Given the description of an element on the screen output the (x, y) to click on. 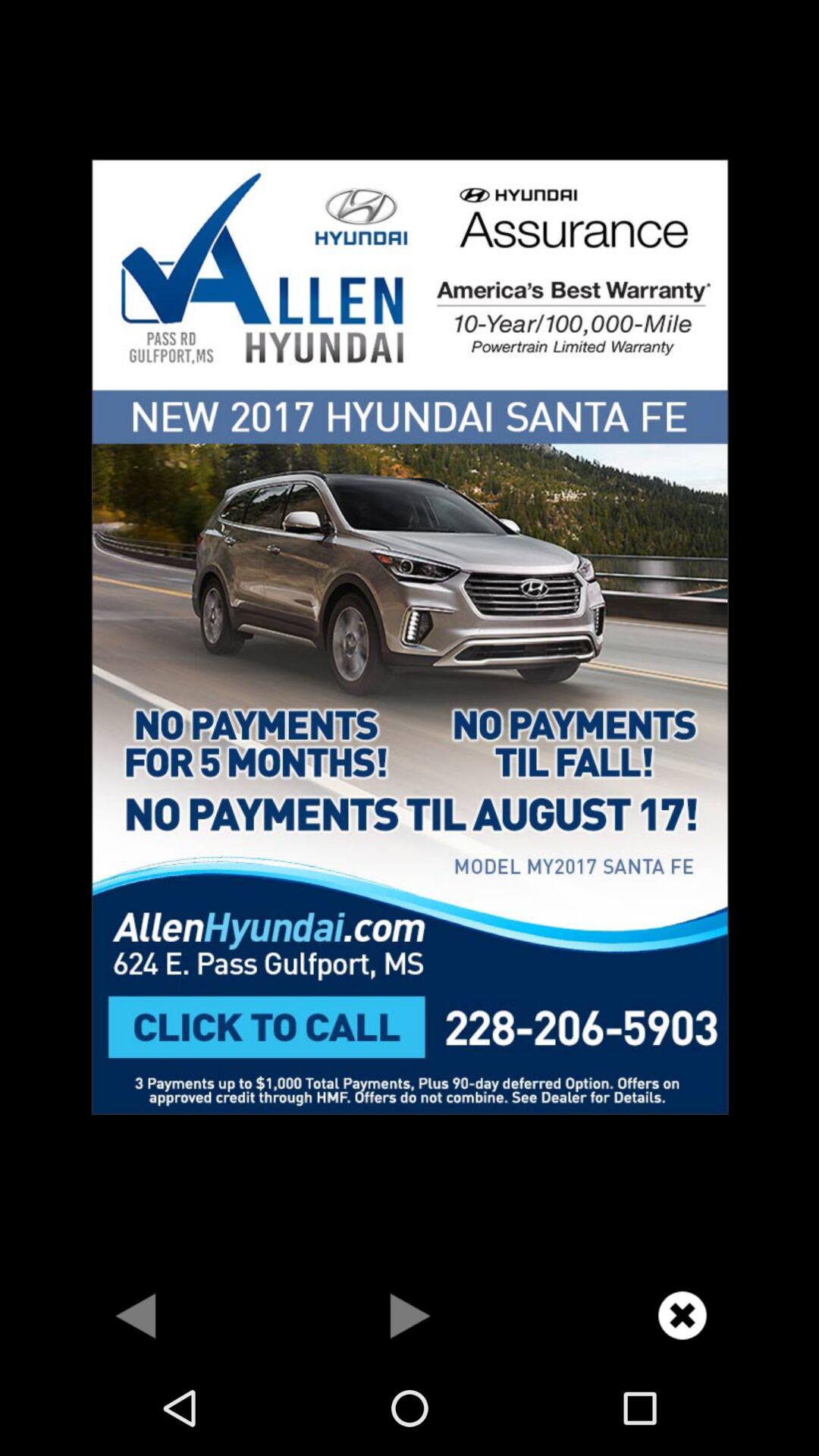
cancel (682, 1315)
